Given the description of an element on the screen output the (x, y) to click on. 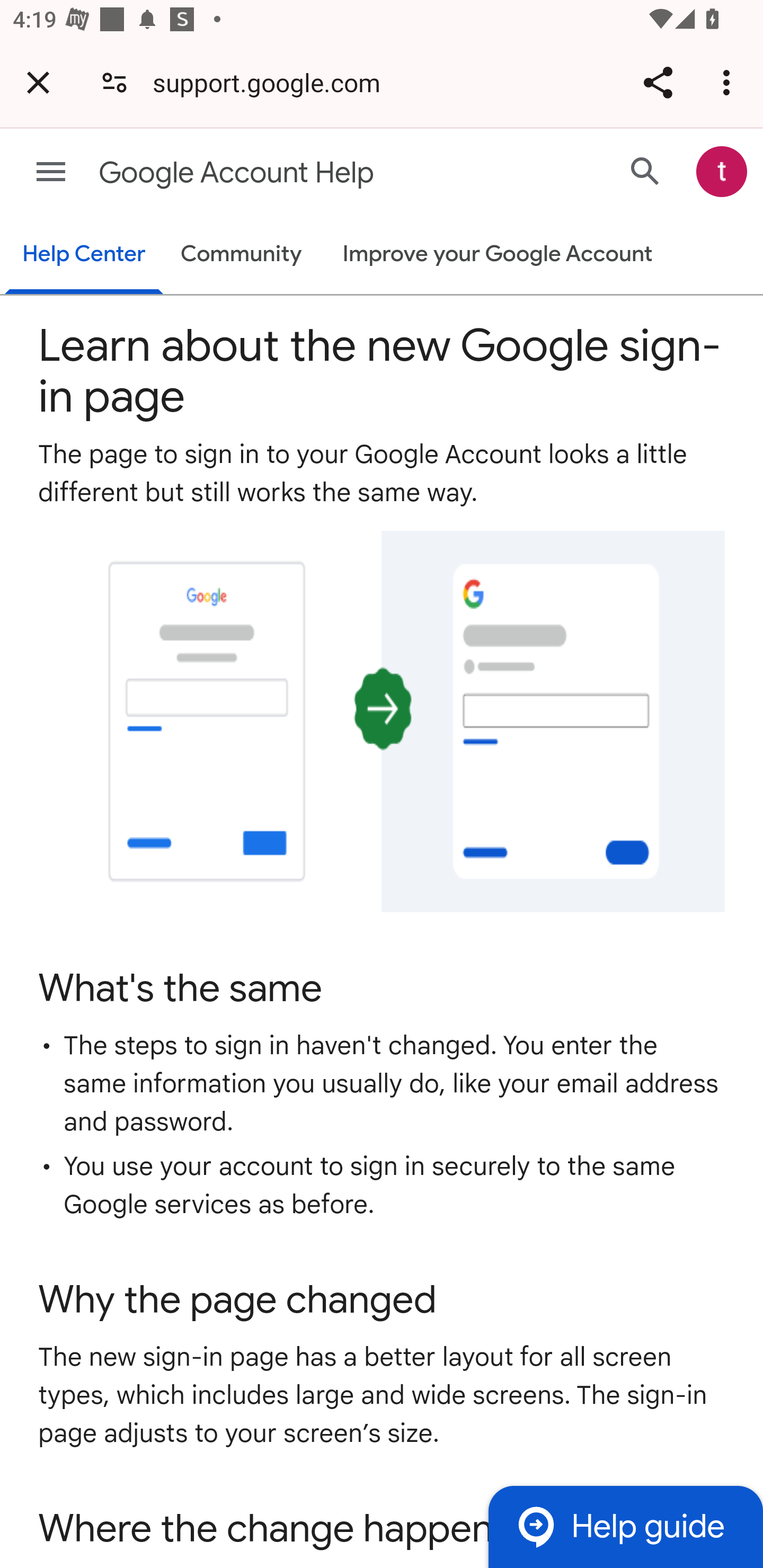
Close tab (38, 82)
Share (657, 82)
Customize and control Google Chrome (729, 82)
Connection is secure (114, 81)
support.google.com (272, 81)
Main menu (50, 171)
Google Account Help (311, 173)
Search Help Center (645, 171)
Help Center (83, 255)
Community (240, 253)
Improve your Google Account (497, 253)
Help guide (625, 1527)
